Given the description of an element on the screen output the (x, y) to click on. 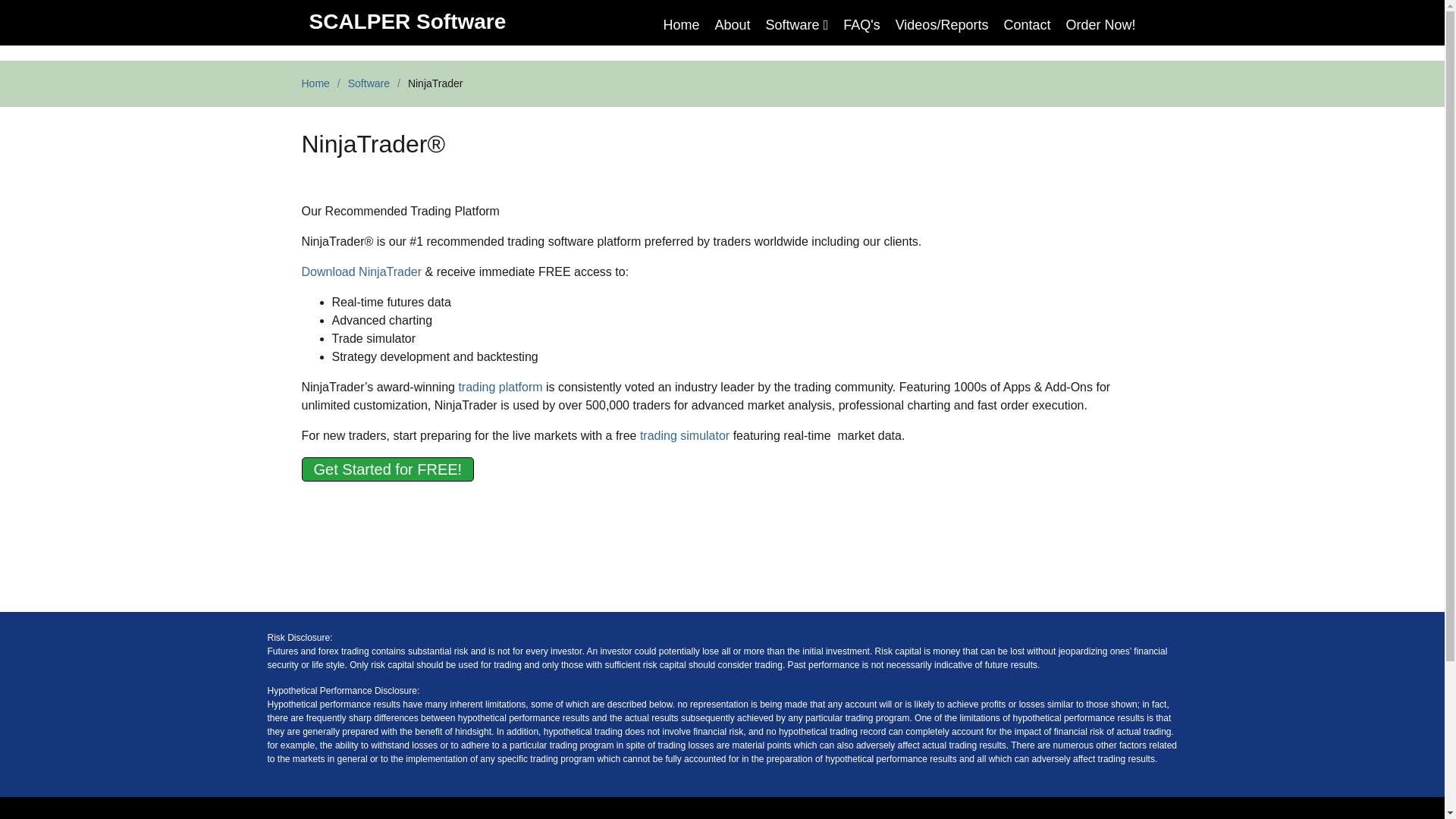
Home (315, 82)
Download NinjaTrader (361, 271)
Order Now! (1100, 25)
About (732, 25)
trading platform (499, 386)
Contact (1026, 25)
FAQ's (860, 25)
trading simulator (684, 435)
Home (681, 25)
SCALPER Software (407, 21)
